Given the description of an element on the screen output the (x, y) to click on. 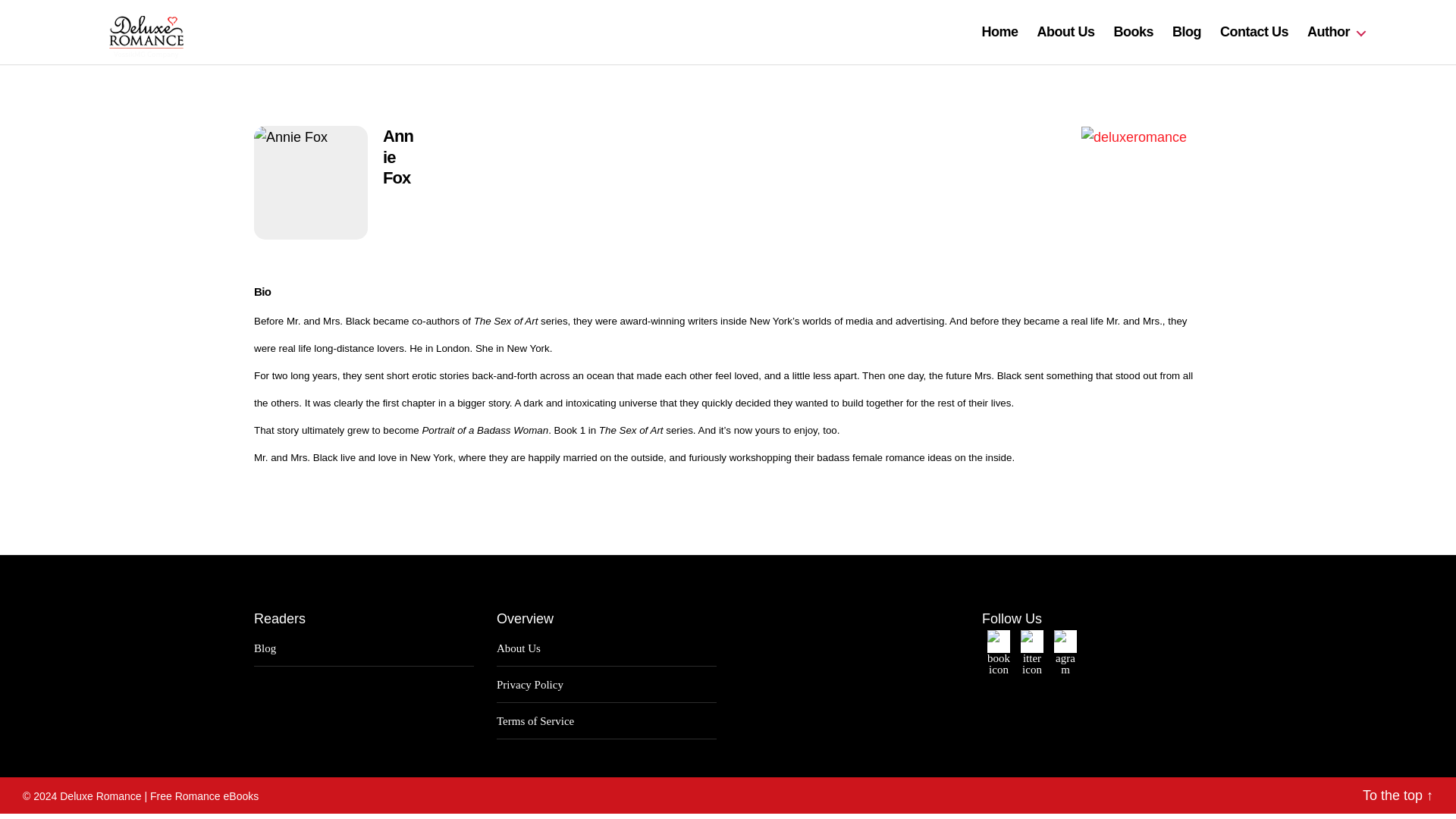
Terms of Service (534, 720)
Privacy Policy (529, 684)
Author (1336, 32)
About Us (1065, 32)
About Us (518, 648)
Contact Us (1254, 32)
Books (1133, 32)
Blog (264, 648)
Blog (1186, 32)
Home (999, 32)
